Given the description of an element on the screen output the (x, y) to click on. 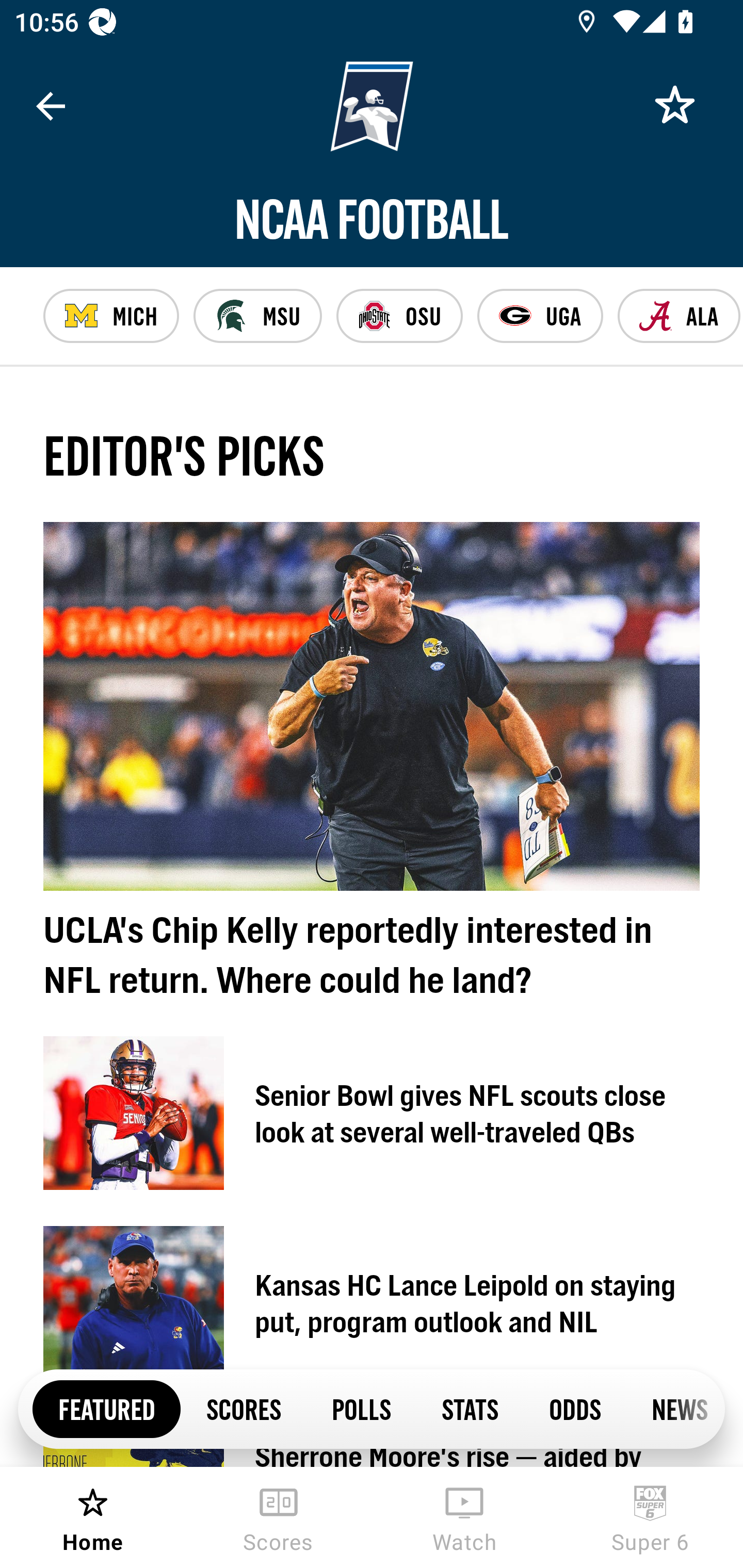
Navigate up (50, 106)
MICH (111, 315)
MSU (257, 315)
OSU (399, 315)
UGA (540, 315)
ALA (678, 315)
SCORES (243, 1408)
POLLS (361, 1408)
STATS (469, 1408)
ODDS (574, 1408)
NEWS (675, 1408)
Scores (278, 1517)
Watch (464, 1517)
Super 6 (650, 1517)
